Given the description of an element on the screen output the (x, y) to click on. 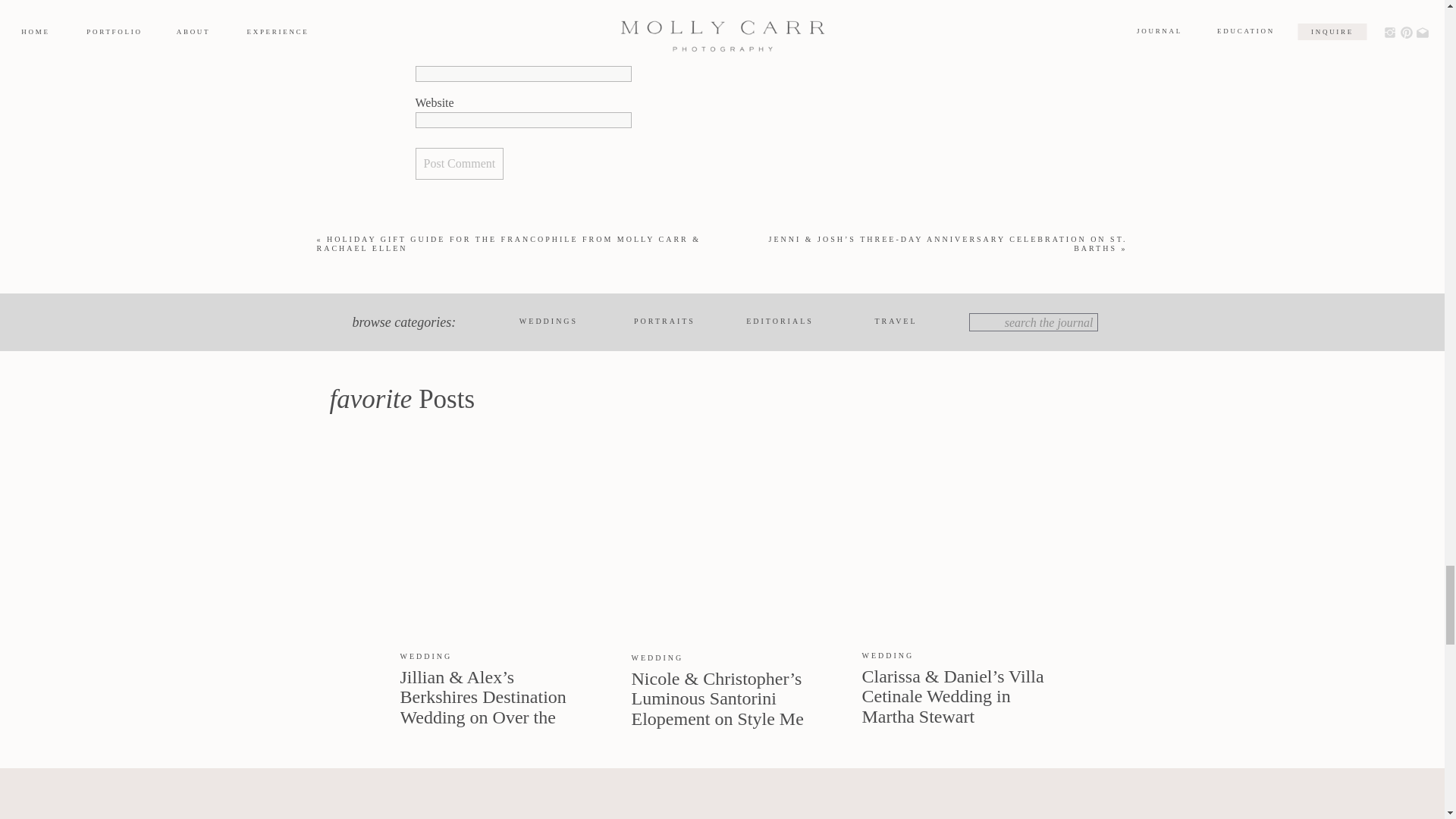
Post Comment (458, 163)
PORTRAITS (665, 322)
EDITORIALS (780, 322)
browse categories:  (416, 322)
WEDDING (656, 657)
WEDDINGS (547, 322)
TRAVEL (895, 322)
Post Comment (458, 163)
WEDDING (426, 655)
WEDDING (887, 655)
